Given the description of an element on the screen output the (x, y) to click on. 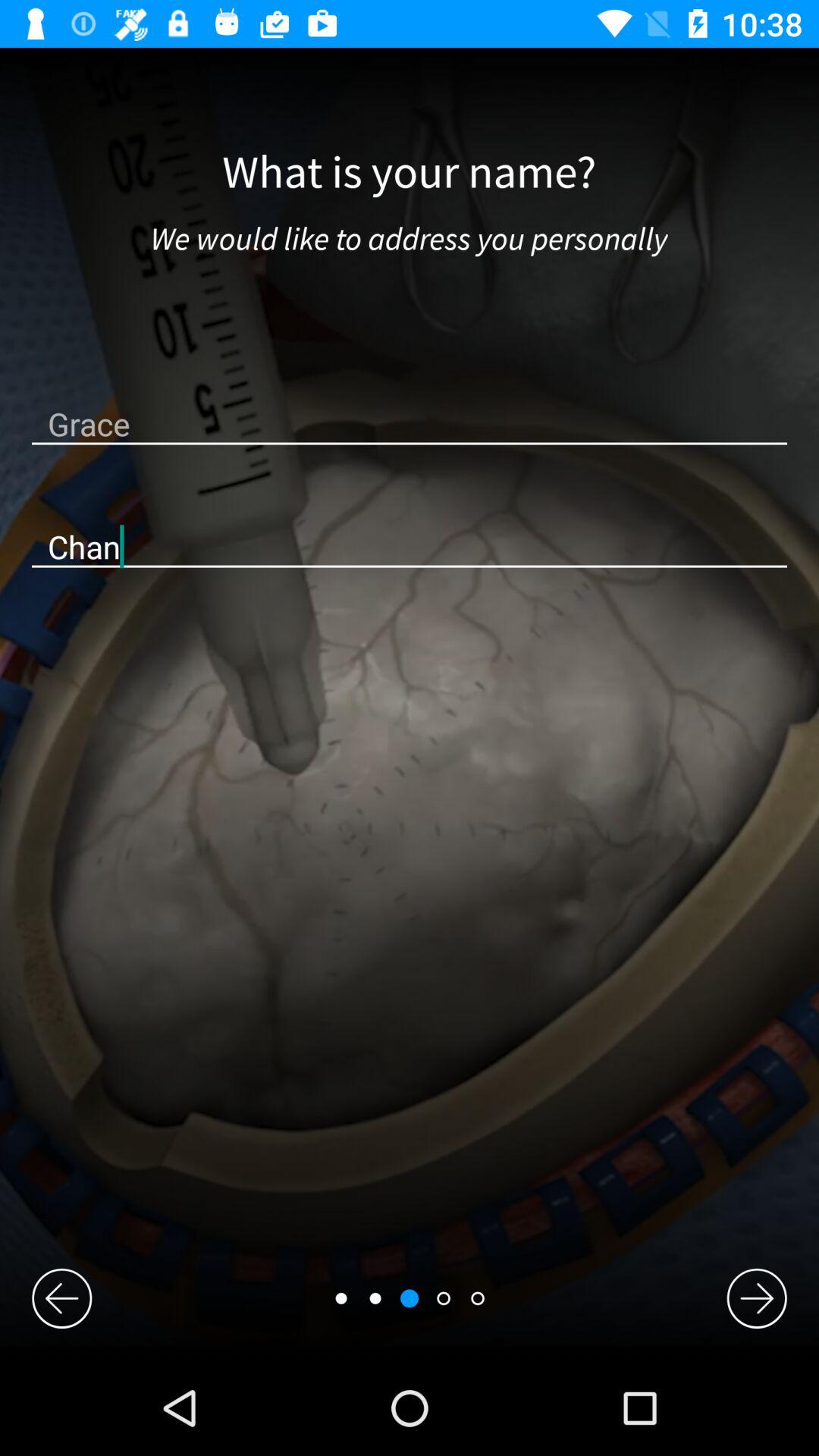
press the icon below the grace icon (409, 546)
